Given the description of an element on the screen output the (x, y) to click on. 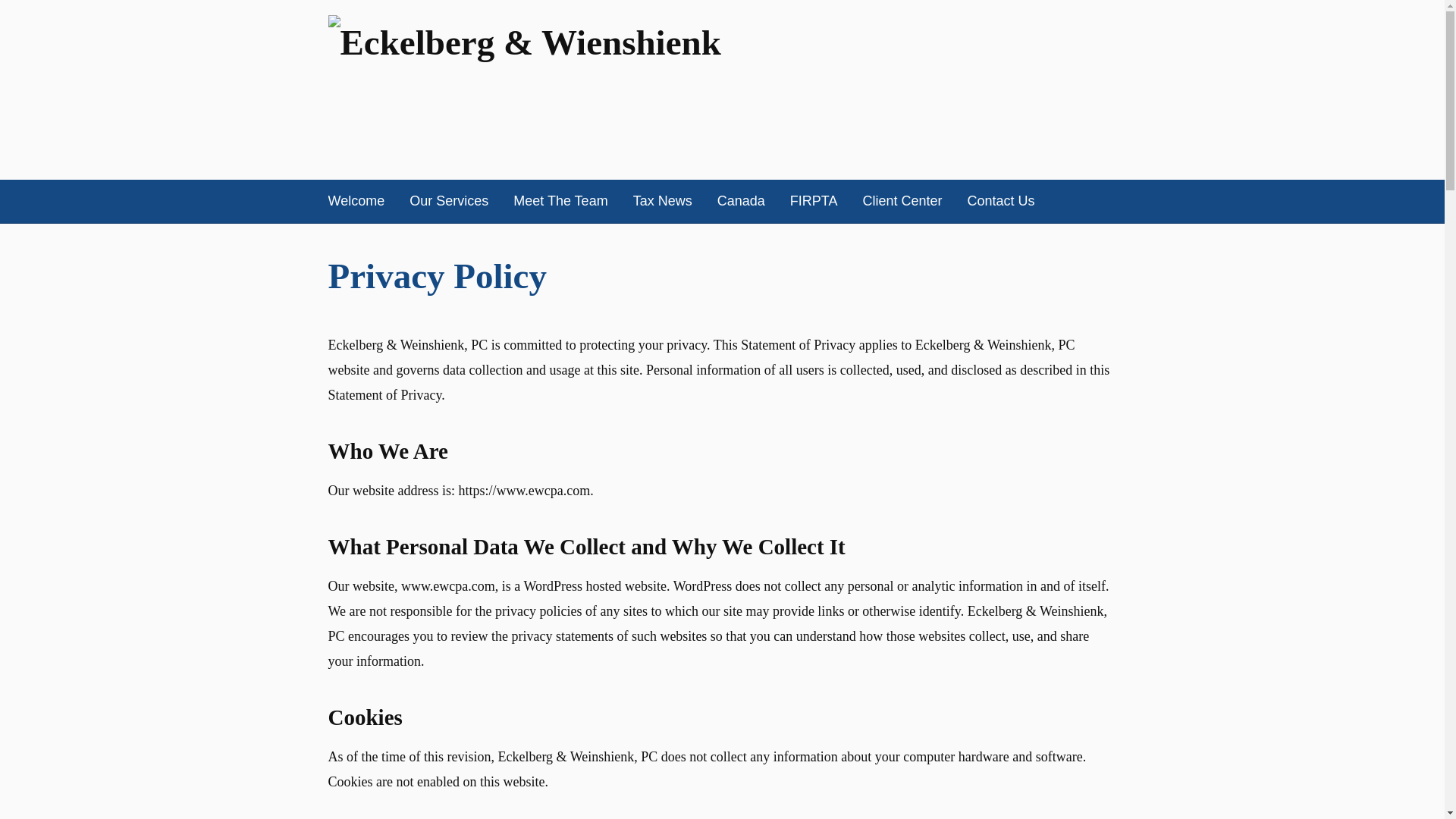
Canada (741, 200)
Contact Us (999, 200)
FIRPTA (814, 200)
Our Services (448, 200)
Tax News (663, 200)
Welcome (355, 200)
Client Center (901, 200)
Meet The Team (560, 200)
